Given the description of an element on the screen output the (x, y) to click on. 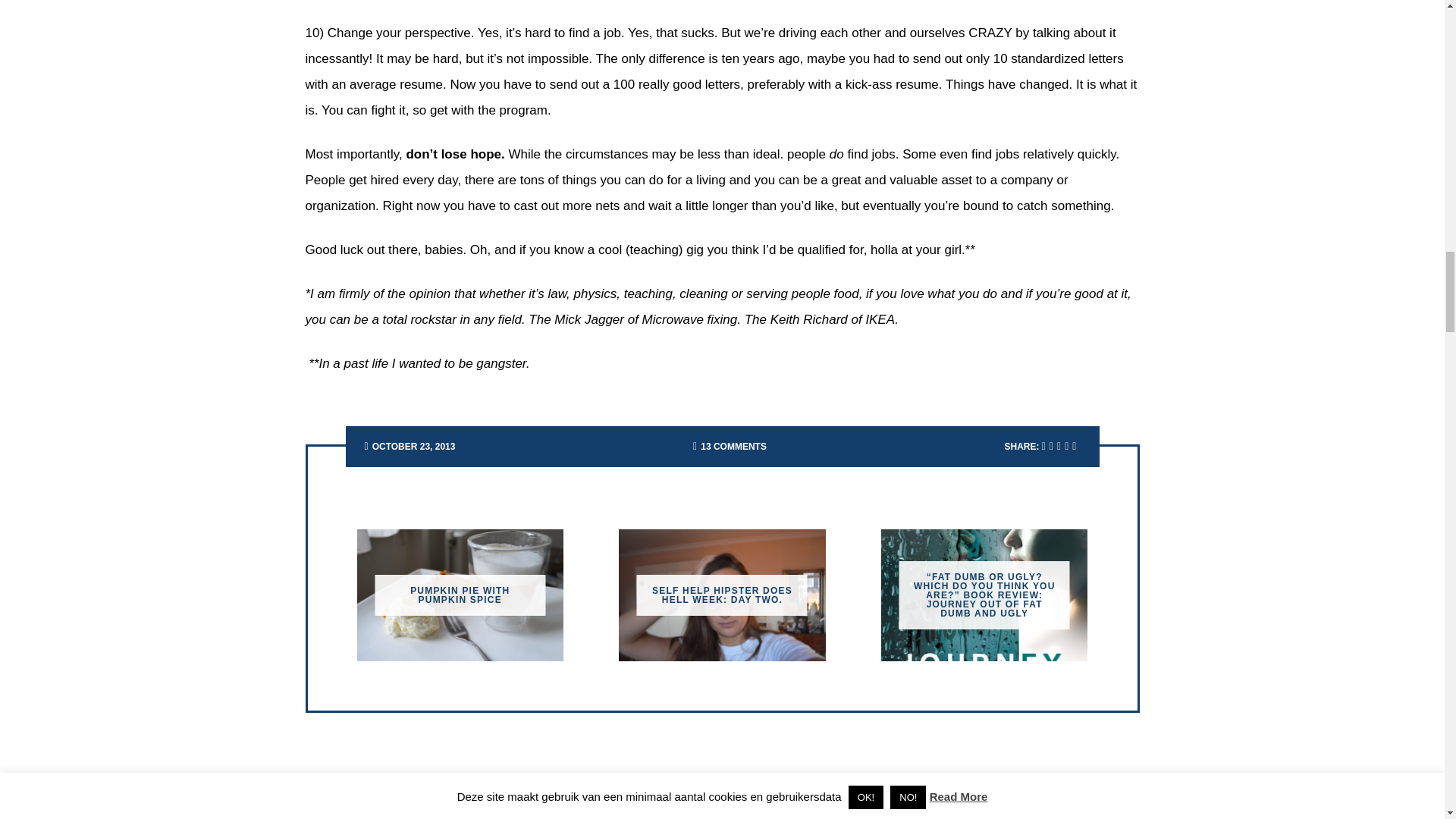
13 COMMENTS (733, 446)
SELF HELP HIPSTER DOES HELL WEEK: DAY TWO. (722, 595)
PUMPKIN PIE WITH PUMPKIN SPICE (459, 595)
